Given the description of an element on the screen output the (x, y) to click on. 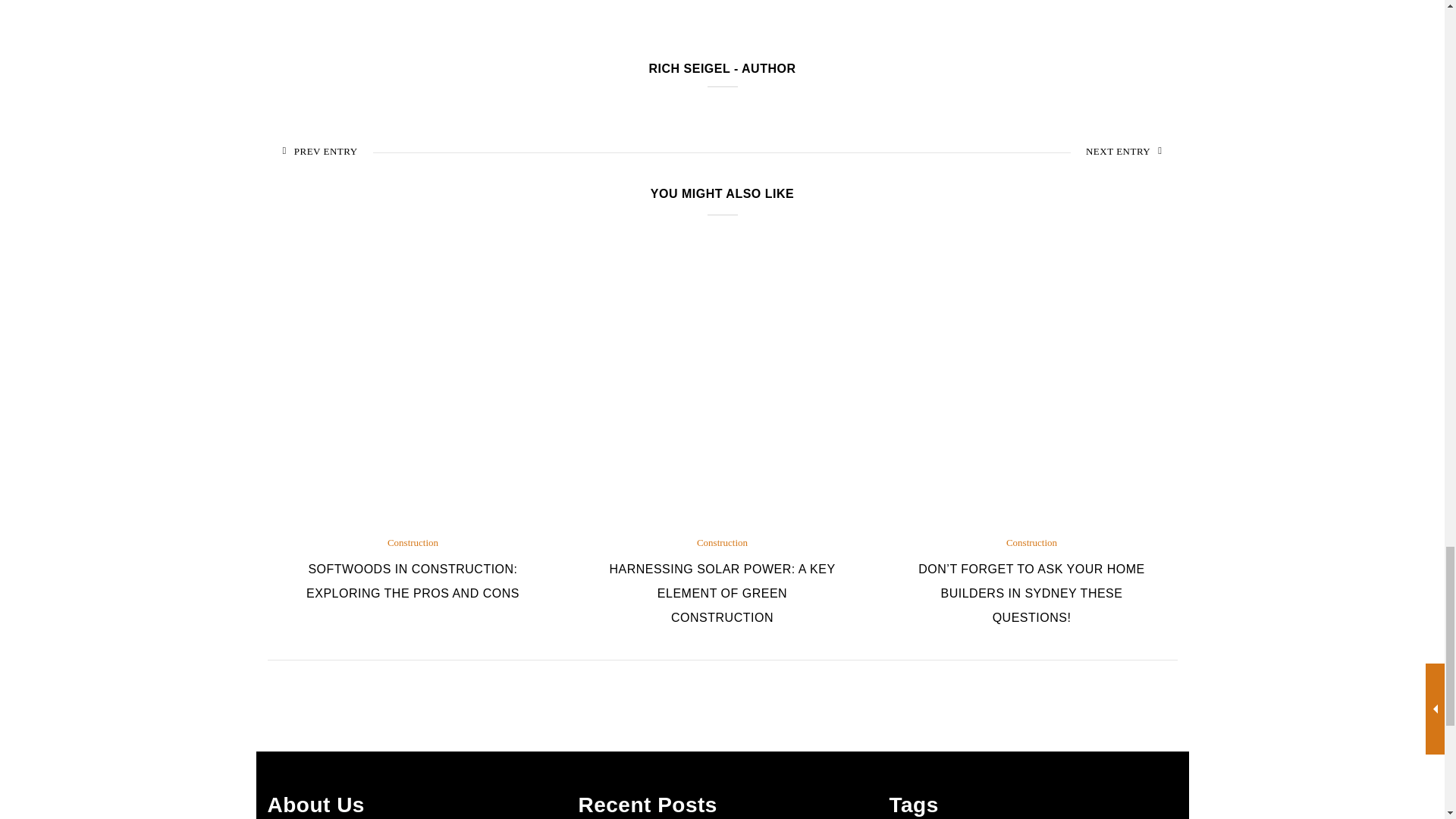
NEXT ENTRY (1123, 151)
RICH SEIGEL (688, 68)
PREV ENTRY (319, 151)
